Given the description of an element on the screen output the (x, y) to click on. 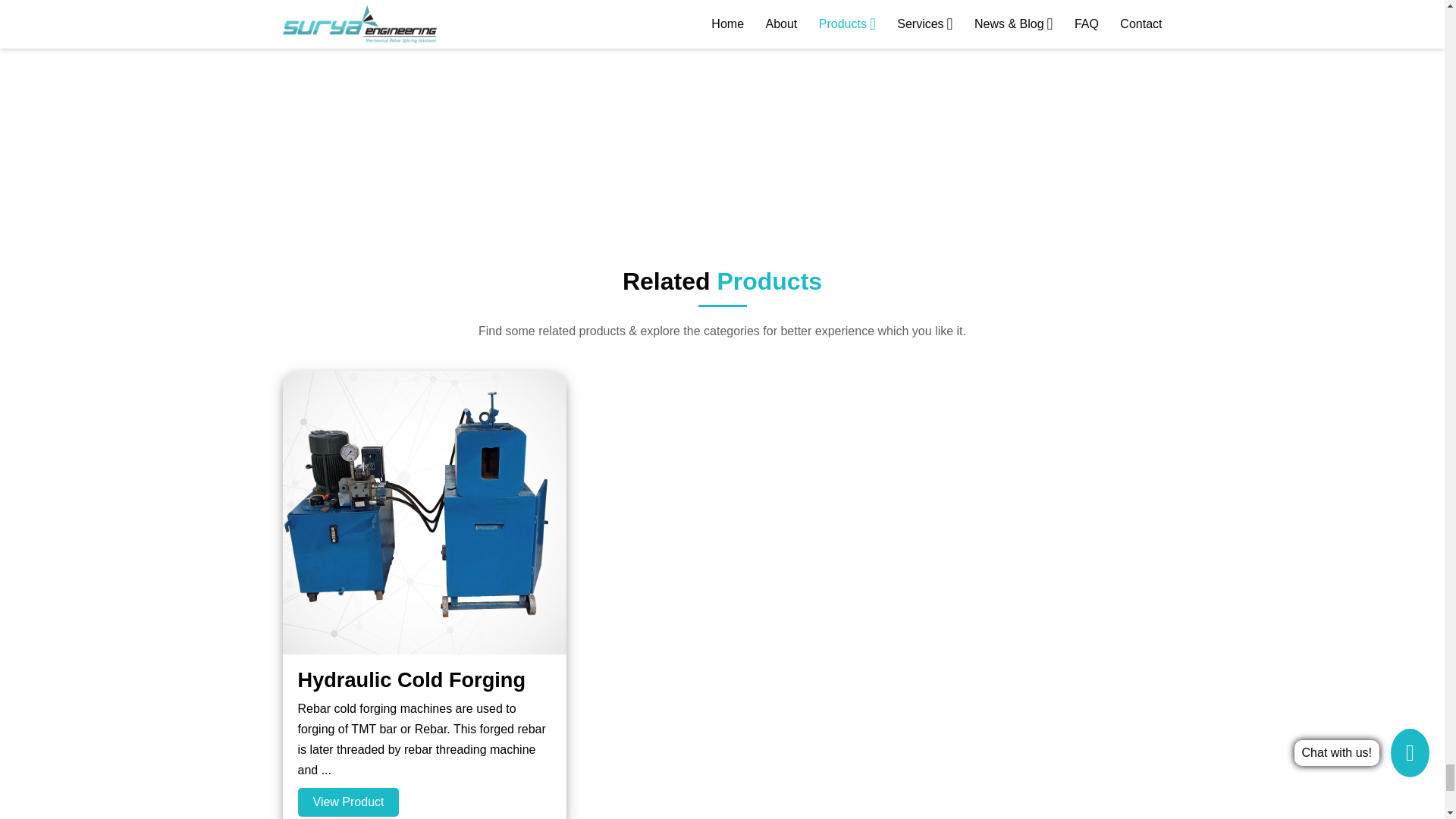
Hydraulic Cold Forging Machine or Rebar Cold Forging Machine (347, 801)
